Given the description of an element on the screen output the (x, y) to click on. 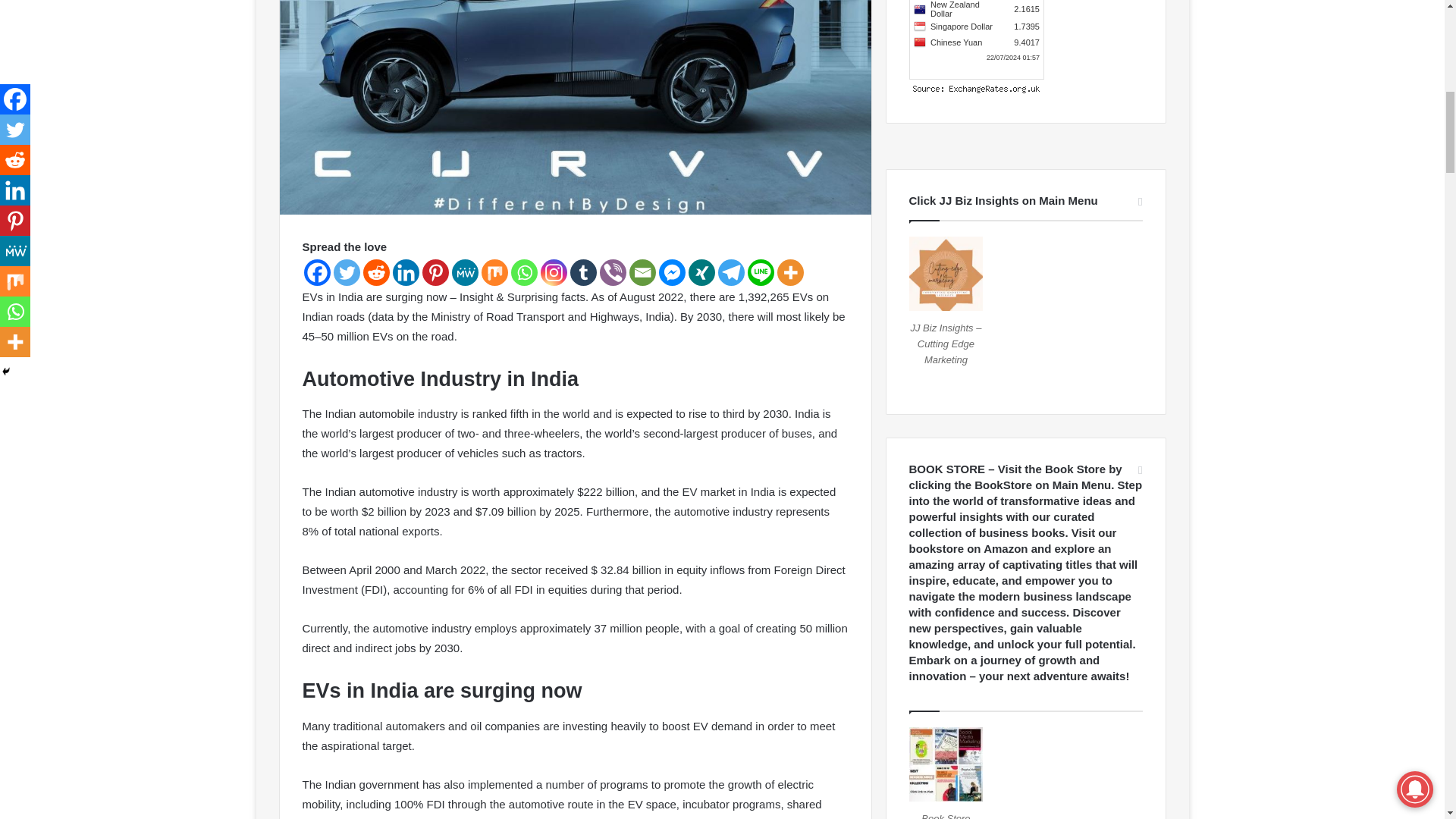
Tumblr (583, 272)
Instagram (553, 272)
Pinterest (435, 272)
Mix (493, 272)
Reddit (375, 272)
Twitter (346, 272)
Facebook (316, 272)
Linkedin (406, 272)
MeWe (465, 272)
Whatsapp (524, 272)
